Given the description of an element on the screen output the (x, y) to click on. 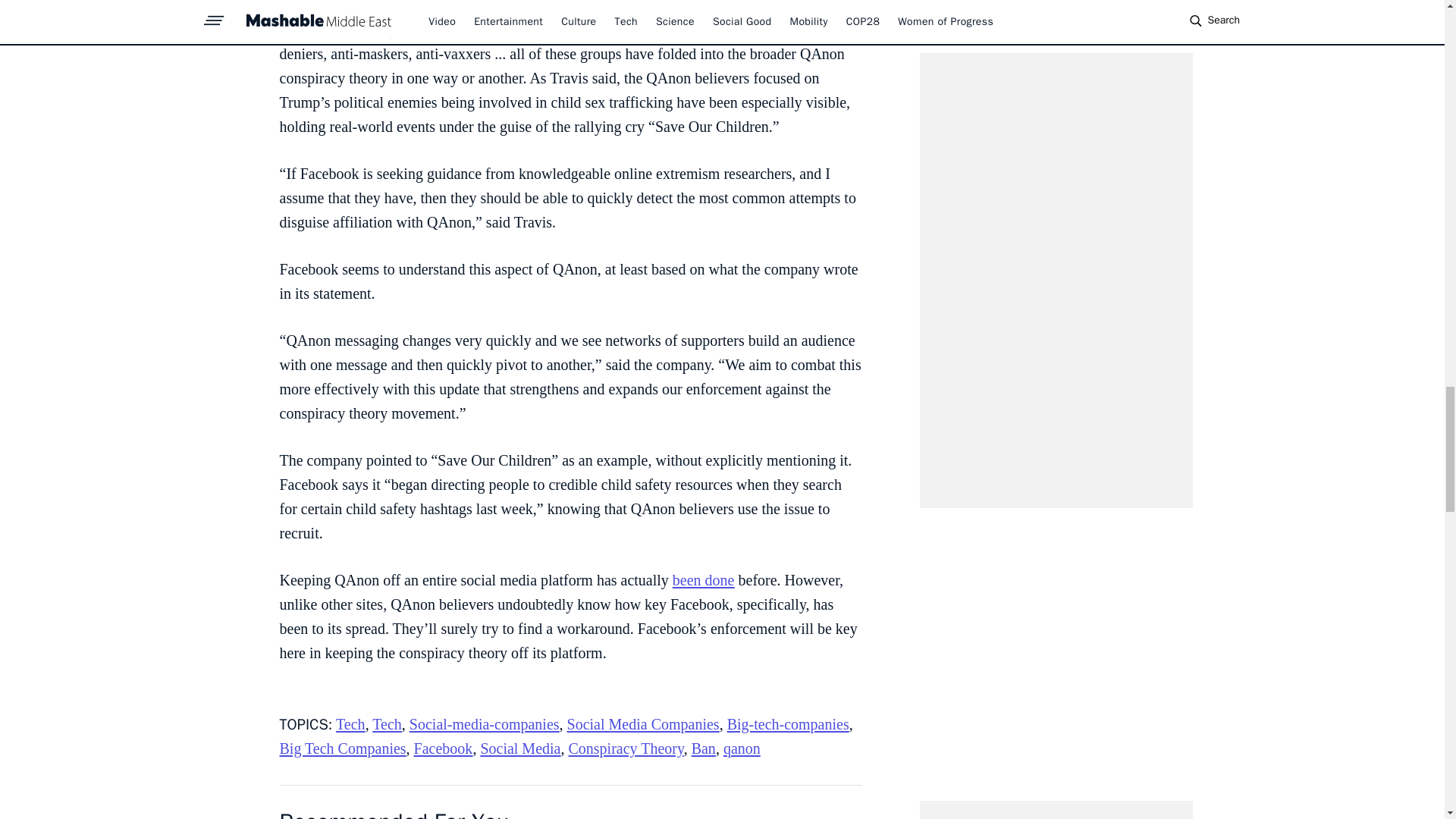
been done (703, 579)
